Given the description of an element on the screen output the (x, y) to click on. 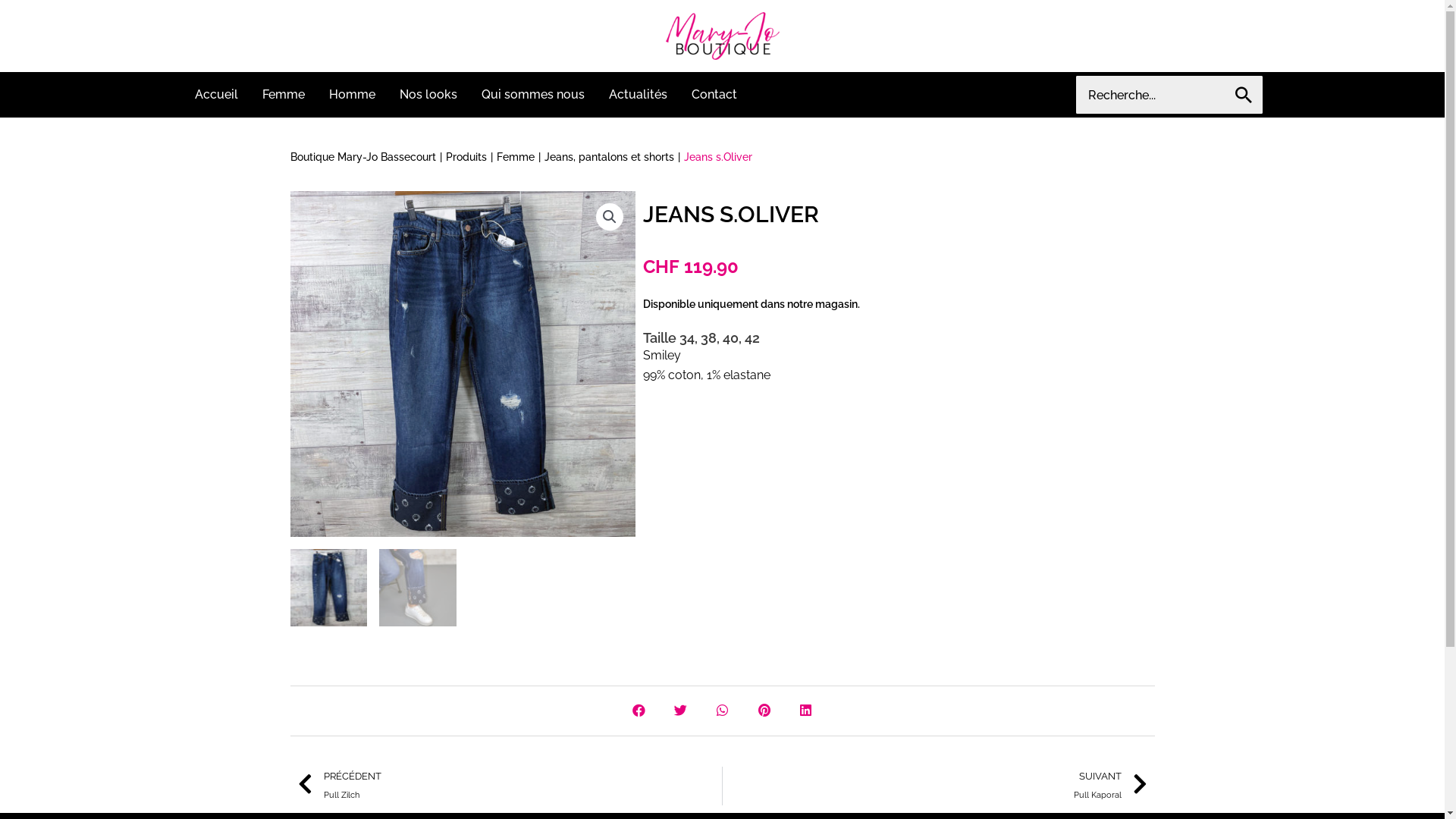
Rechercher Element type: text (1243, 94)
Jeans, pantalons et shorts Element type: text (609, 157)
Nos looks Element type: text (427, 94)
Boutique Mary-Jo Bassecourt Element type: text (362, 157)
Qui sommes nous Element type: text (532, 94)
SUIVANT
Pull Kaporal
Suivant Element type: text (934, 785)
Accueil Element type: text (215, 94)
Contact Element type: text (714, 94)
IMG_9511 Element type: hover (462, 363)
Femme Element type: text (283, 94)
Produits Element type: text (465, 157)
Femme Element type: text (514, 157)
Homme Element type: text (351, 94)
